Given the description of an element on the screen output the (x, y) to click on. 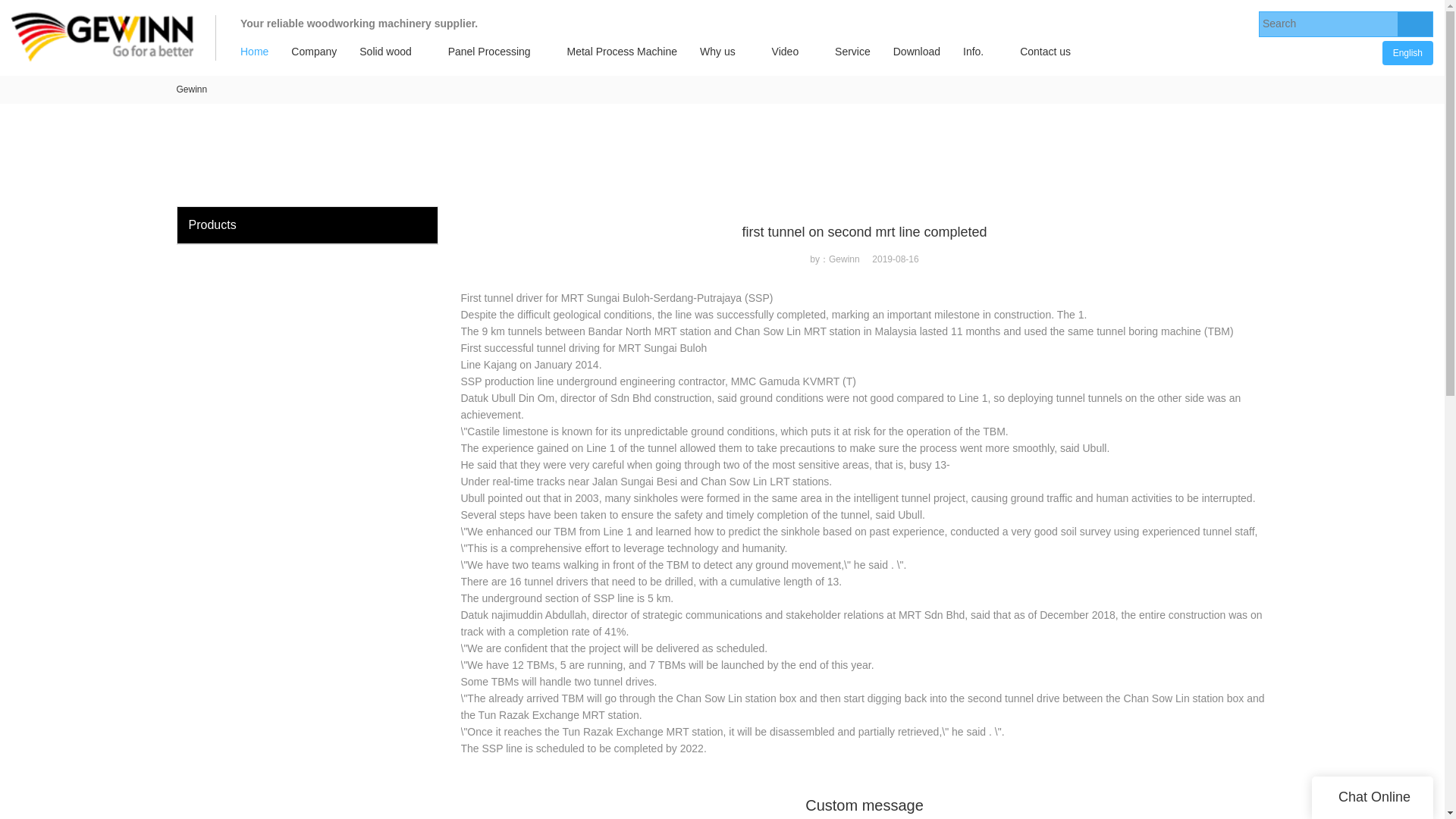
Company (313, 51)
Panel Processing (488, 51)
Download (917, 51)
Solid wood (385, 51)
Service (853, 51)
Why us (717, 51)
Home (253, 51)
Metal Process Machine (622, 51)
Video (785, 51)
